Given the description of an element on the screen output the (x, y) to click on. 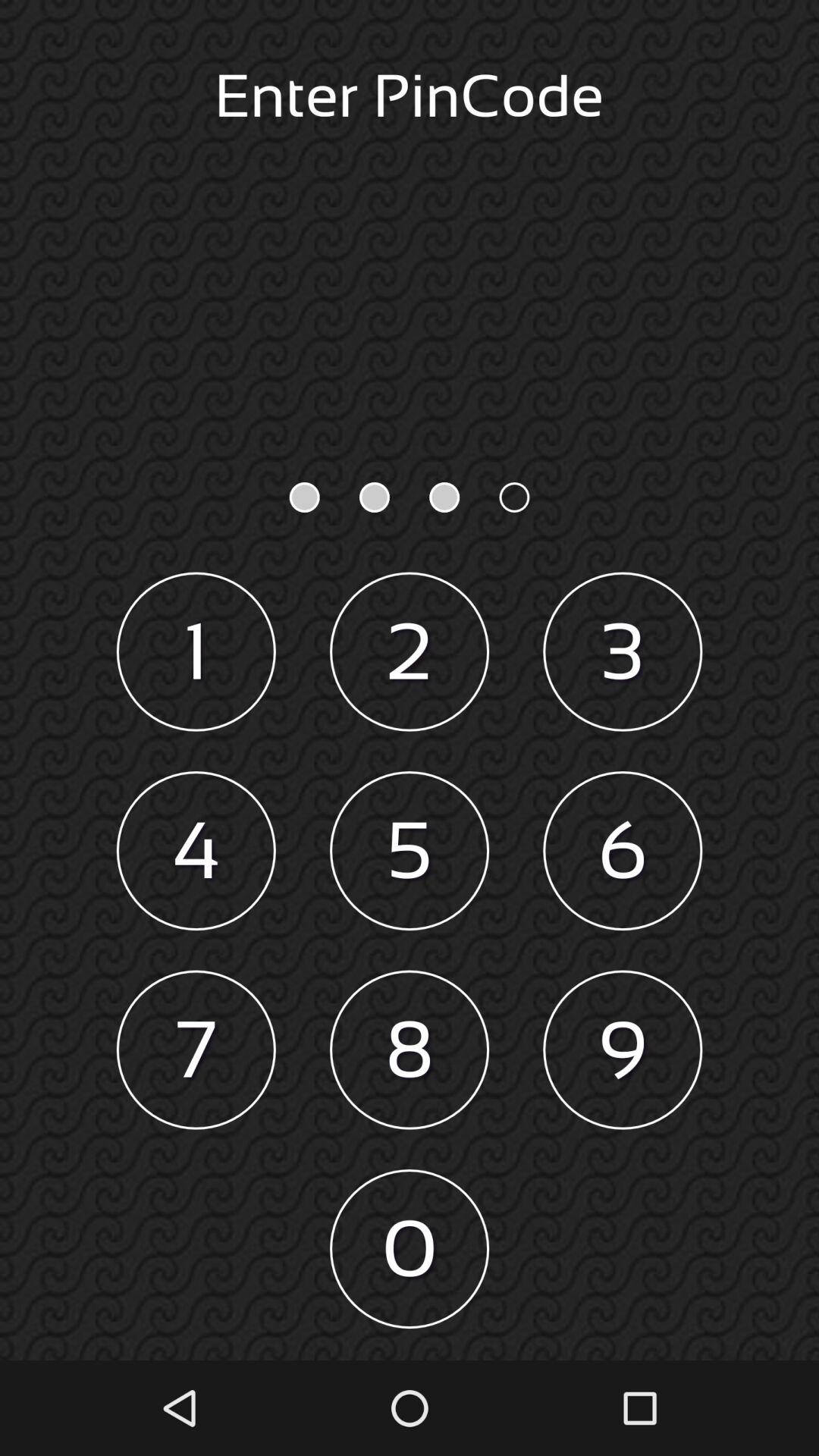
open item to the right of 7 item (409, 1049)
